Given the description of an element on the screen output the (x, y) to click on. 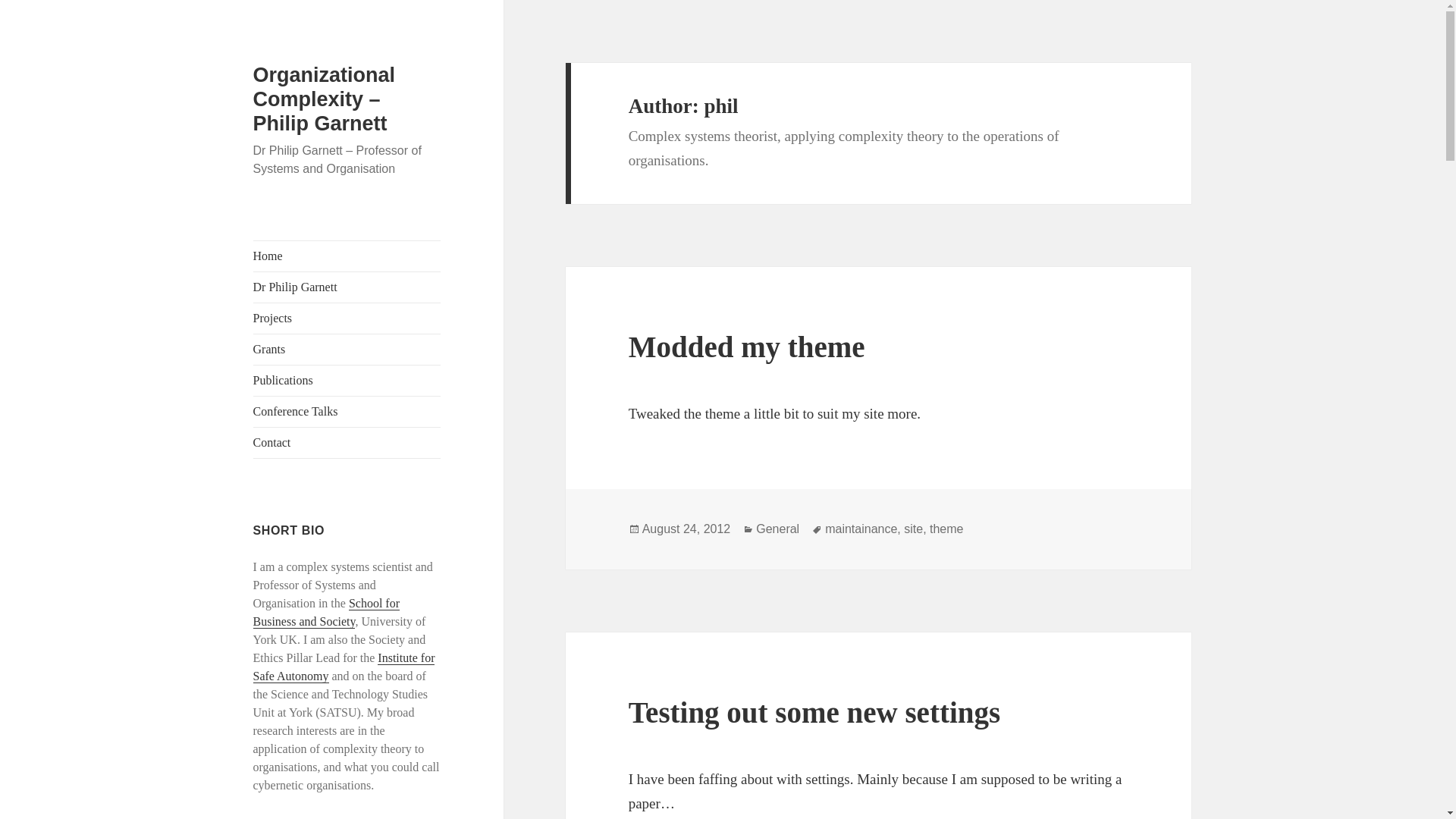
Conference Talks (347, 411)
Grants (347, 349)
Publications (347, 380)
Contact (347, 442)
Institute for Safe Autonomy (344, 667)
Projects (347, 318)
School for Business and Society (325, 612)
Home (347, 255)
Dr Philip Garnett (347, 286)
